Given the description of an element on the screen output the (x, y) to click on. 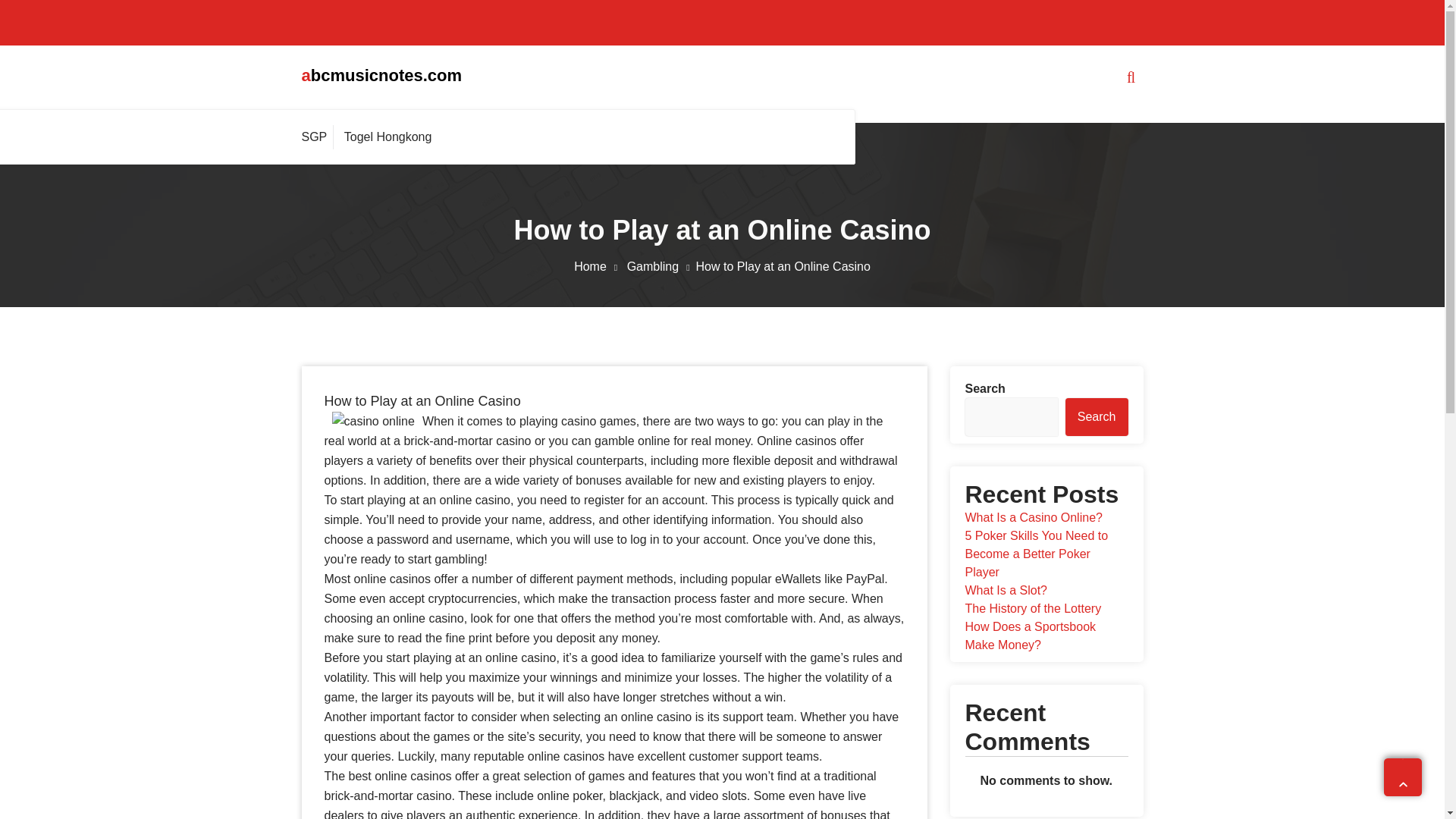
Togel Hongkong (388, 136)
SGP (317, 136)
How Does a Sportsbook Make Money? (1029, 635)
SGP (317, 136)
5 Poker Skills You Need to Become a Better Poker Player (1035, 553)
Search (1096, 416)
Togel Hongkong (388, 136)
What Is a Slot? (1004, 590)
Home (598, 266)
Gambling (661, 266)
